Given the description of an element on the screen output the (x, y) to click on. 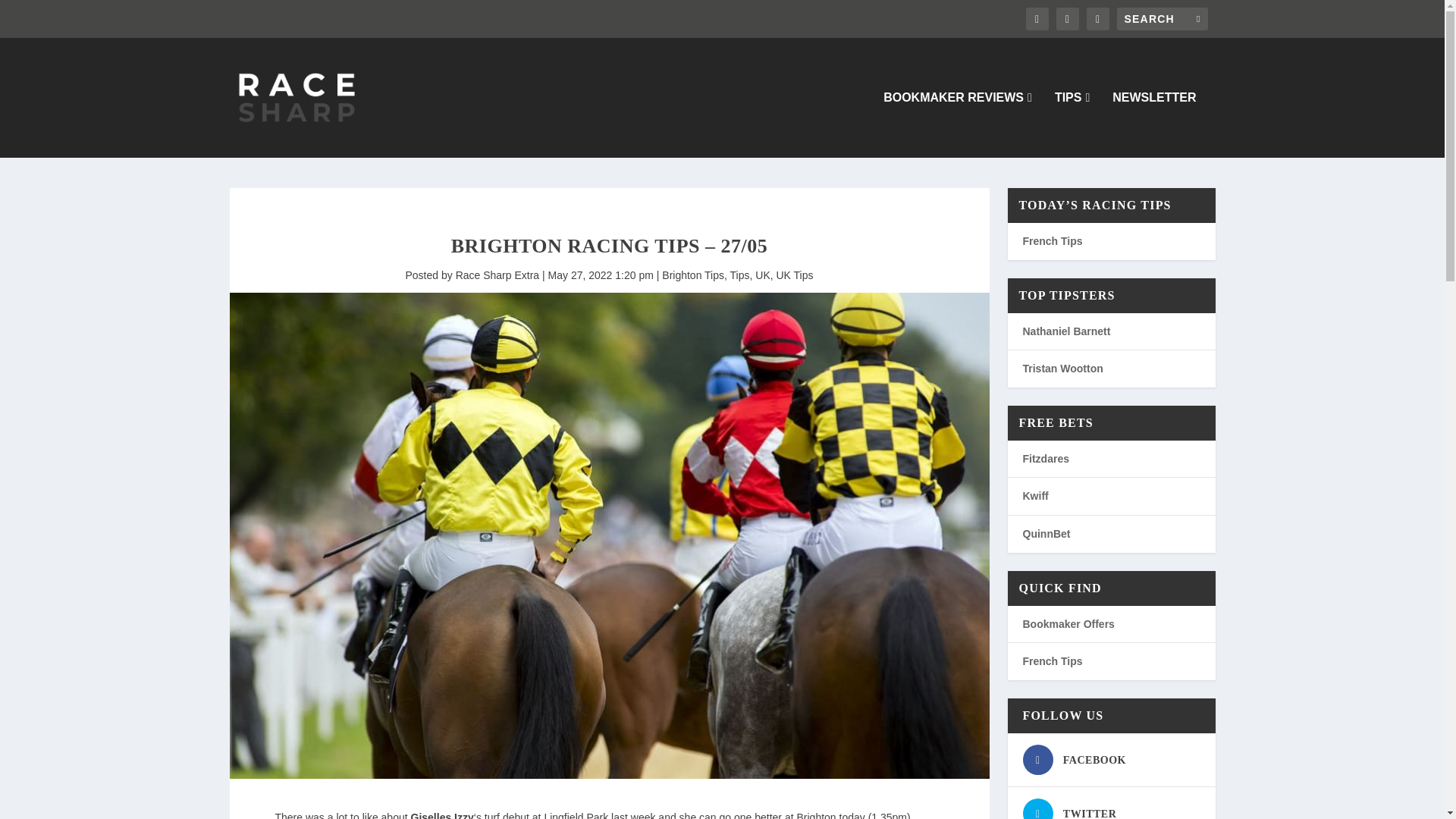
Search for: (1161, 18)
Race Sharp Extra (497, 275)
Brighton Tips (692, 275)
Tips (739, 275)
BOOKMAKER REVIEWS (957, 124)
NEWSLETTER (1153, 124)
Posts by Race Sharp Extra (497, 275)
